Given the description of an element on the screen output the (x, y) to click on. 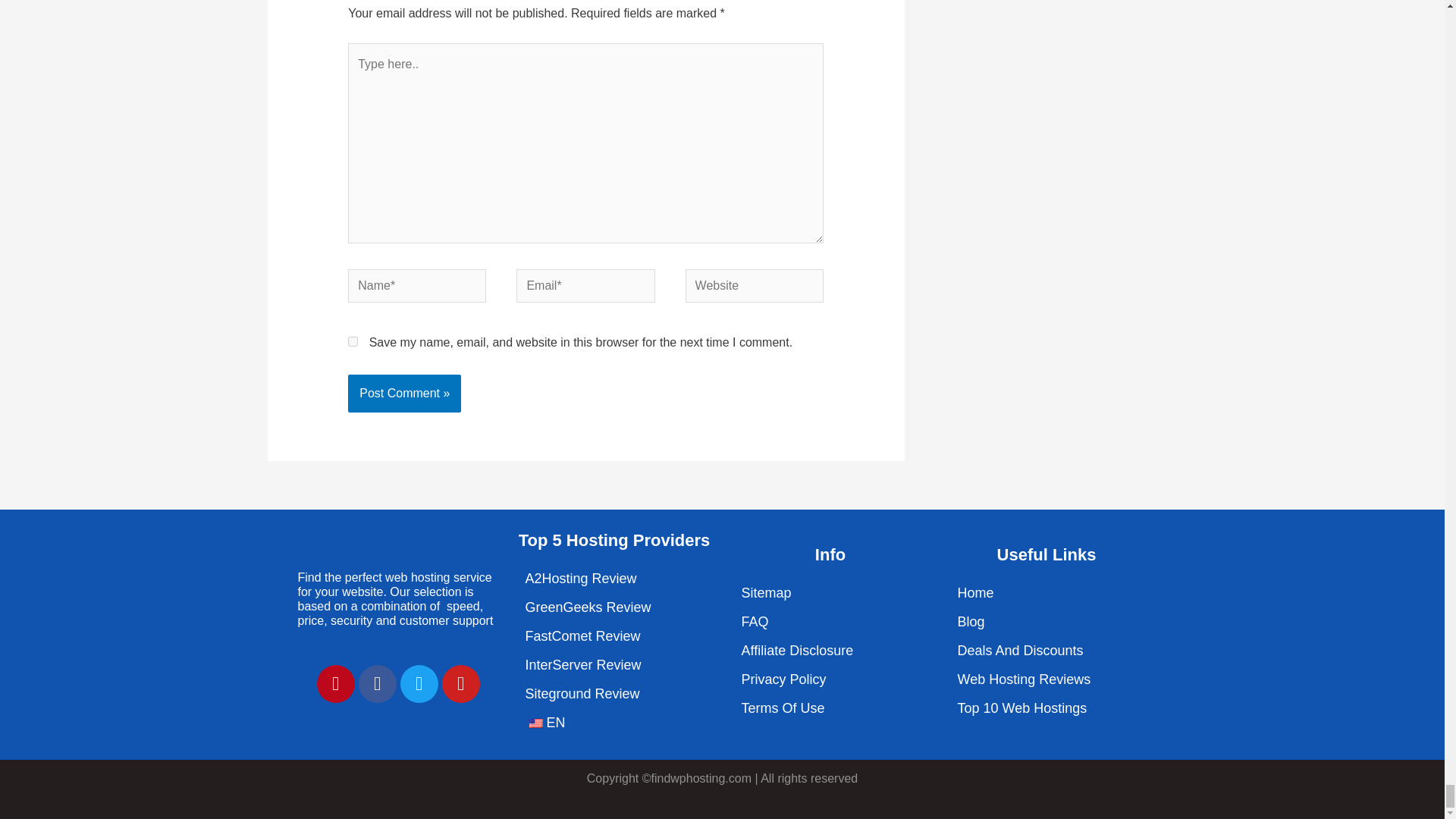
English (536, 723)
yes (352, 341)
